Given the description of an element on the screen output the (x, y) to click on. 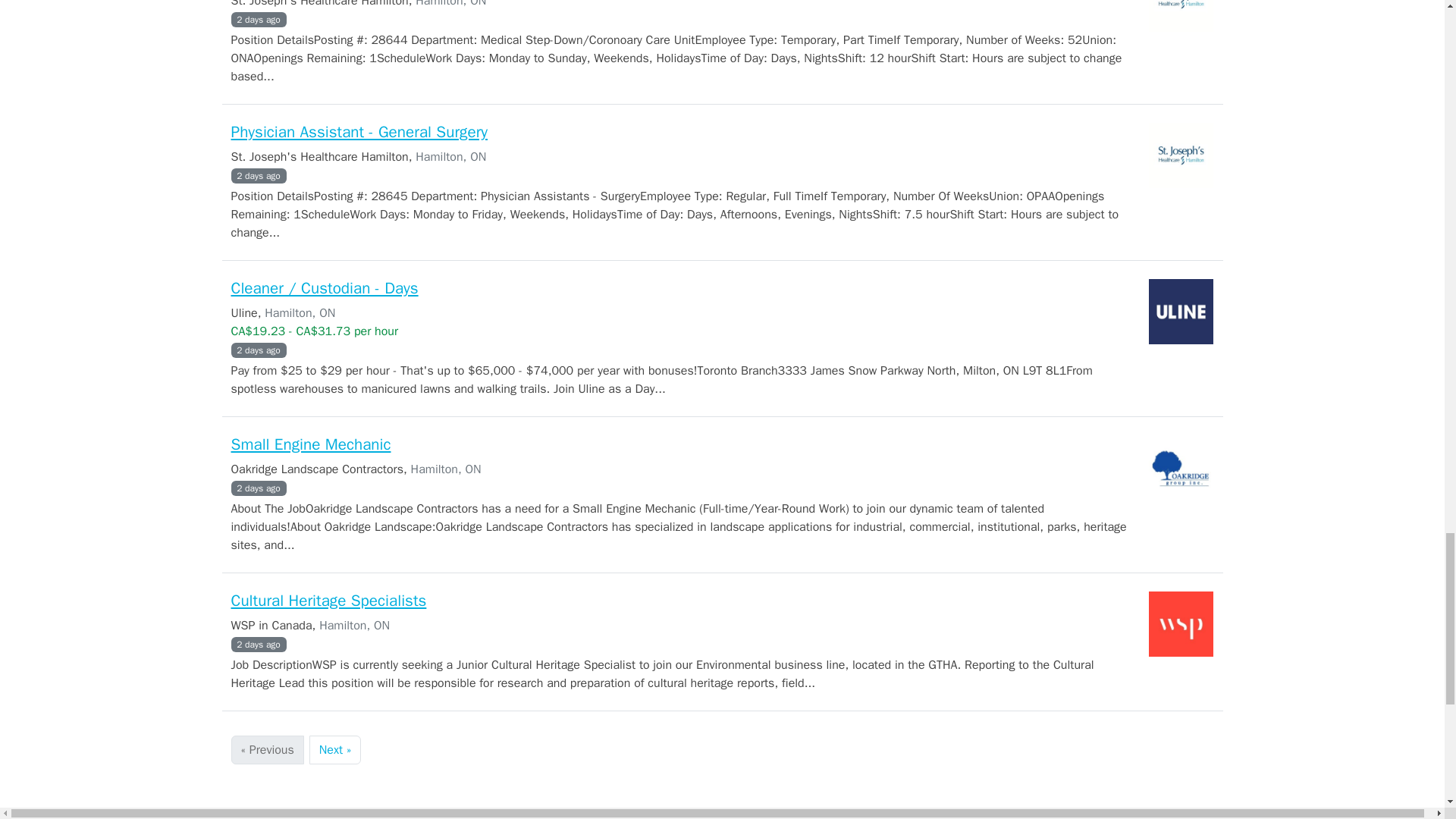
Physician Assistant - General Surgery (358, 131)
Cultural Heritage Specialists (328, 600)
Small Engine Mechanic (310, 444)
